Given the description of an element on the screen output the (x, y) to click on. 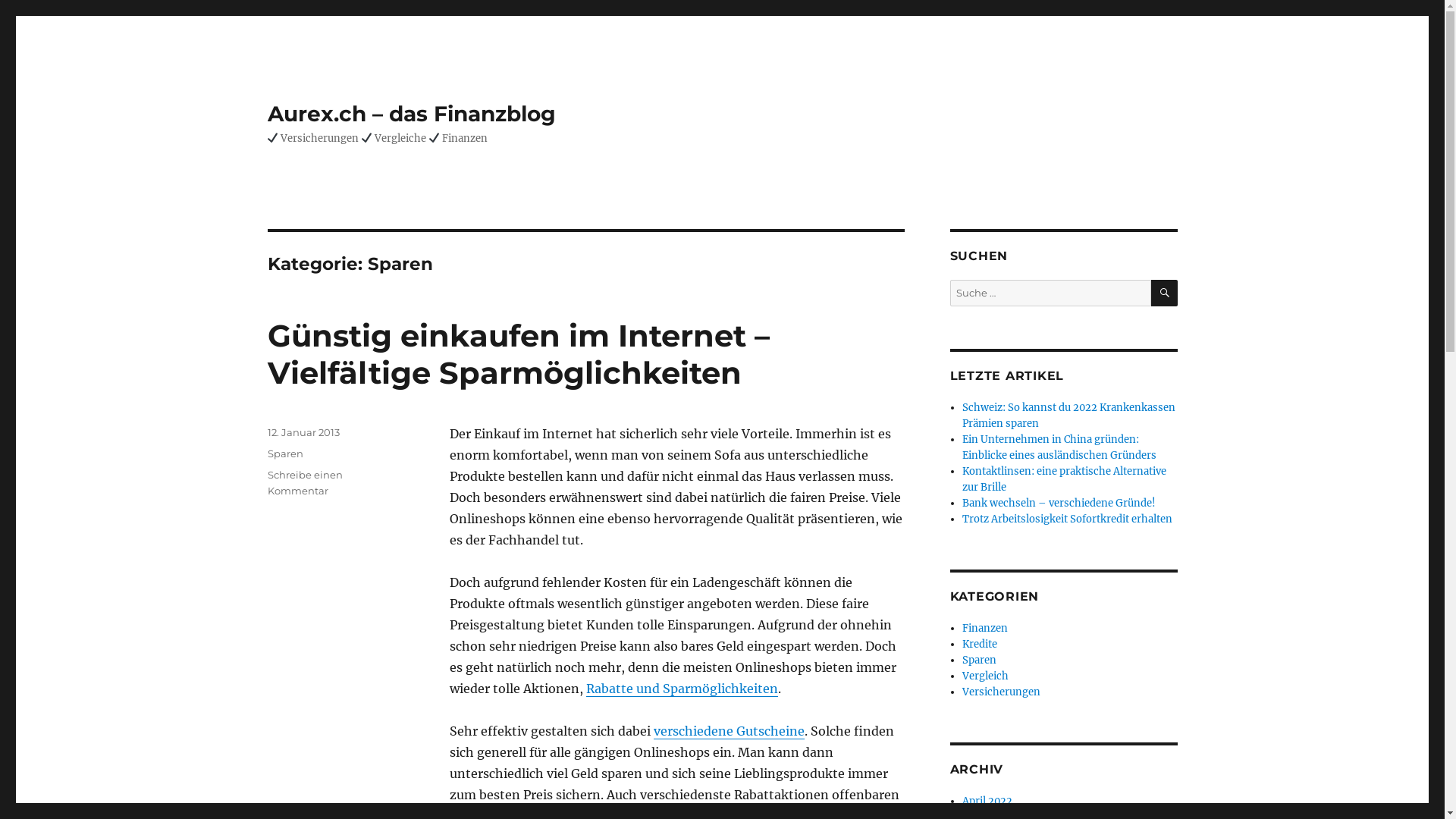
Trotz Arbeitslosigkeit Sofortkredit erhalten Element type: text (1067, 518)
12. Januar 2013 Element type: text (302, 432)
Sparen Element type: text (979, 659)
verschiedene Gutscheine Element type: text (728, 730)
April 2022 Element type: text (987, 800)
Finanzen Element type: text (984, 627)
Versicherungen Element type: text (1001, 691)
Kredite Element type: text (979, 643)
Kontaktlinsen: eine praktische Alternative zur Brille Element type: text (1064, 478)
SUCHEN Element type: text (1164, 292)
Vergleich Element type: text (985, 675)
Sparen Element type: text (284, 453)
